Given the description of an element on the screen output the (x, y) to click on. 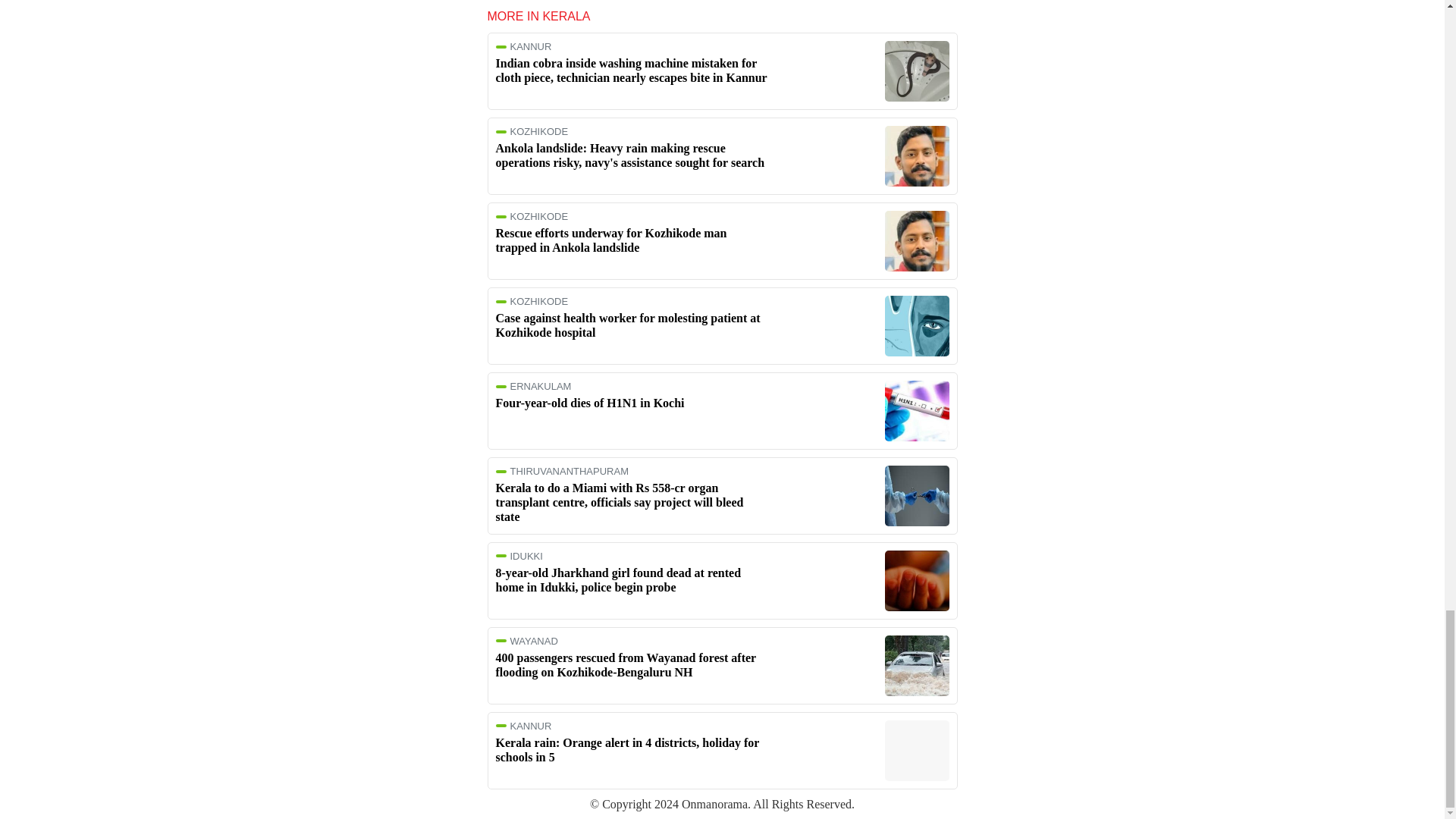
Four-year-old dies of H1N1 in Kochi (590, 402)
KOZHIKODE (633, 301)
KANNUR (633, 46)
KOZHIKODE (633, 131)
THIRUVANANTHAPURAM (633, 471)
ERNAKULAM (633, 386)
IDUKKI (633, 555)
KANNUR (633, 726)
